Given the description of an element on the screen output the (x, y) to click on. 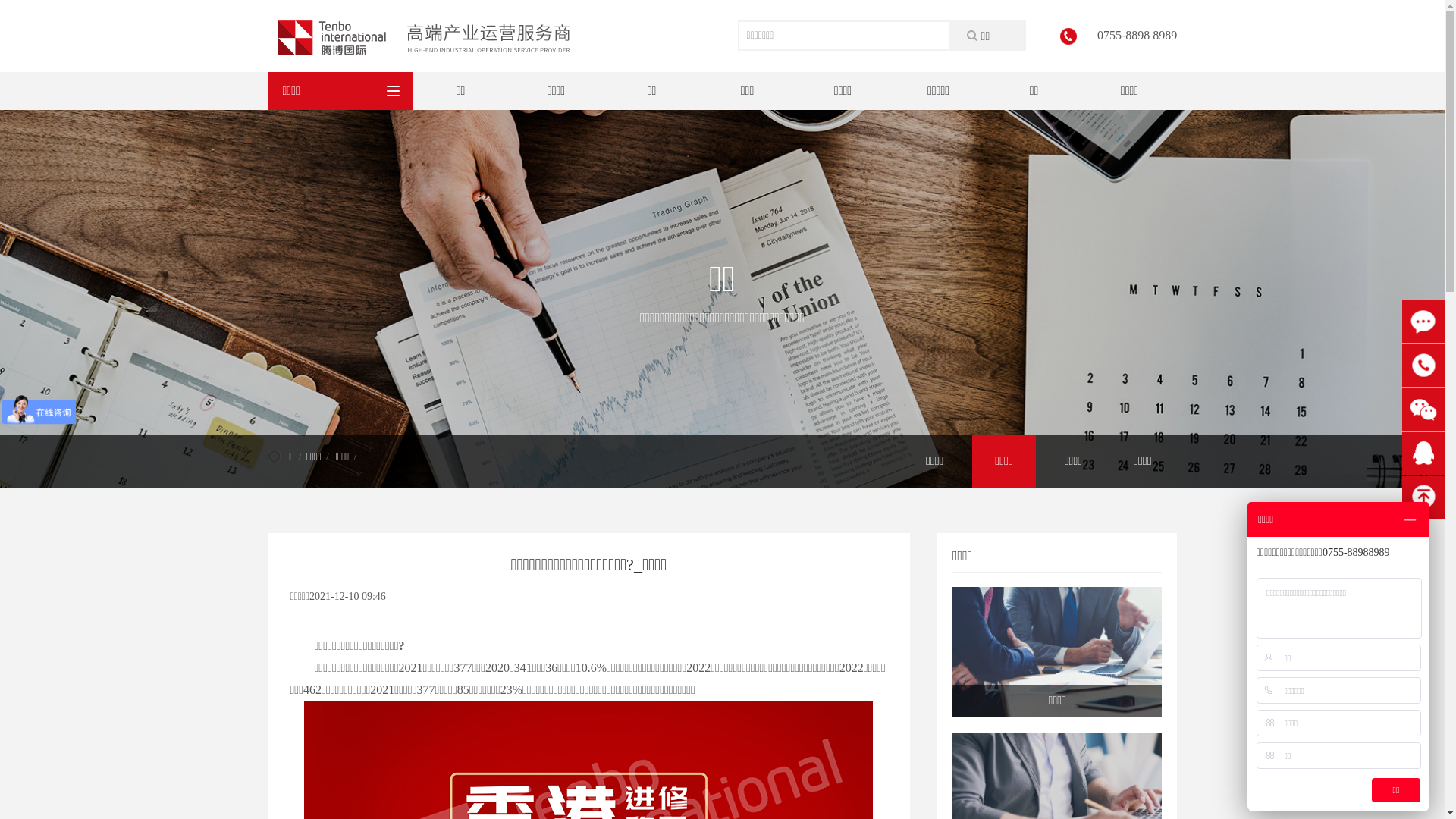
3260904604 Element type: text (1423, 453)
0755-8898 8989 Element type: text (1423, 365)
